Given the description of an element on the screen output the (x, y) to click on. 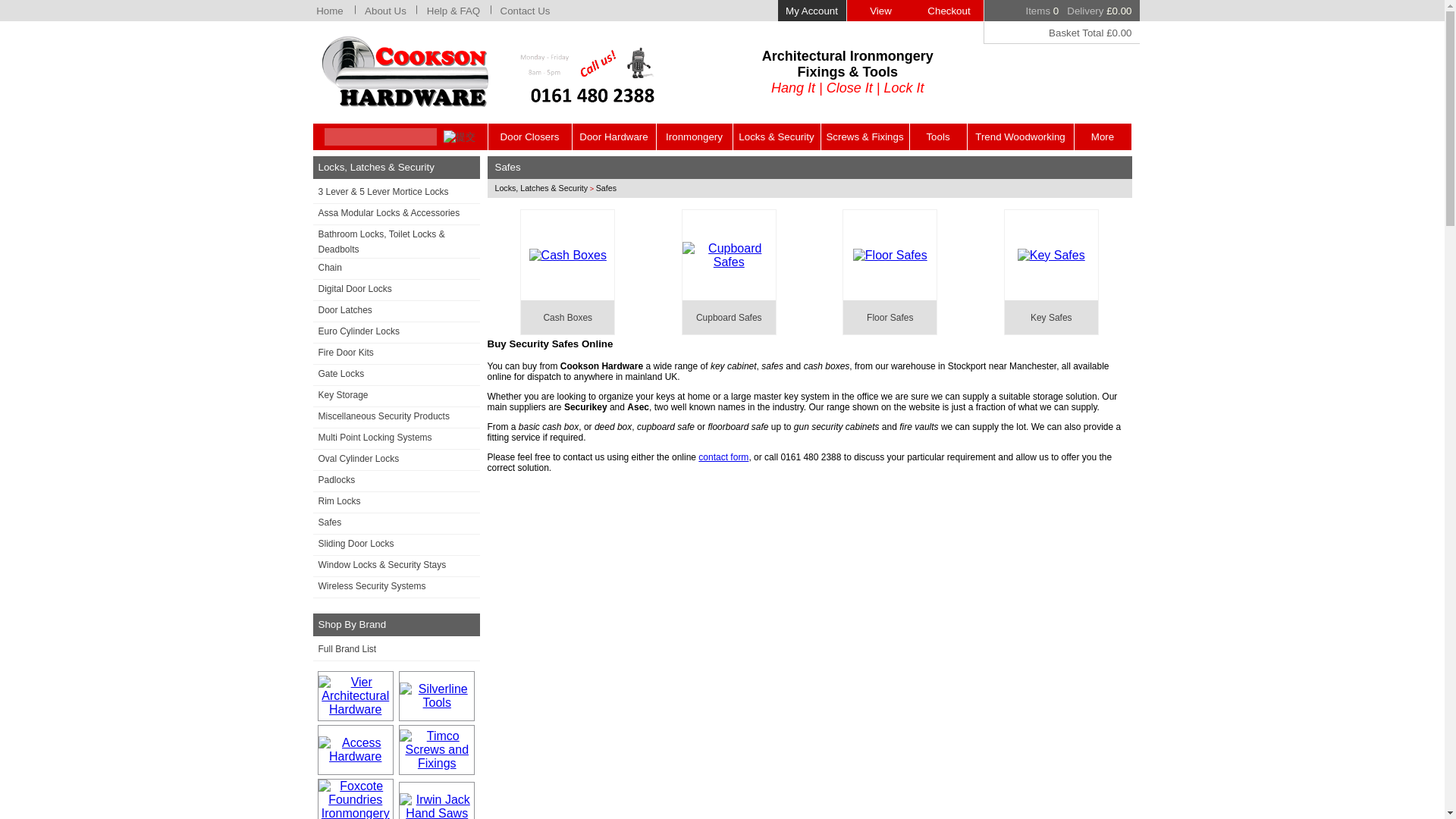
Padlocks (396, 481)
Rim Locks (396, 502)
Foxcote Foundries Ironmongery Products (355, 799)
Gate Locks (396, 374)
Ironmongery (694, 136)
About Us (384, 10)
Wireless Security Systems (396, 587)
Silverline Tools (436, 696)
Door Latches (396, 311)
Full Brand List (396, 649)
